Given the description of an element on the screen output the (x, y) to click on. 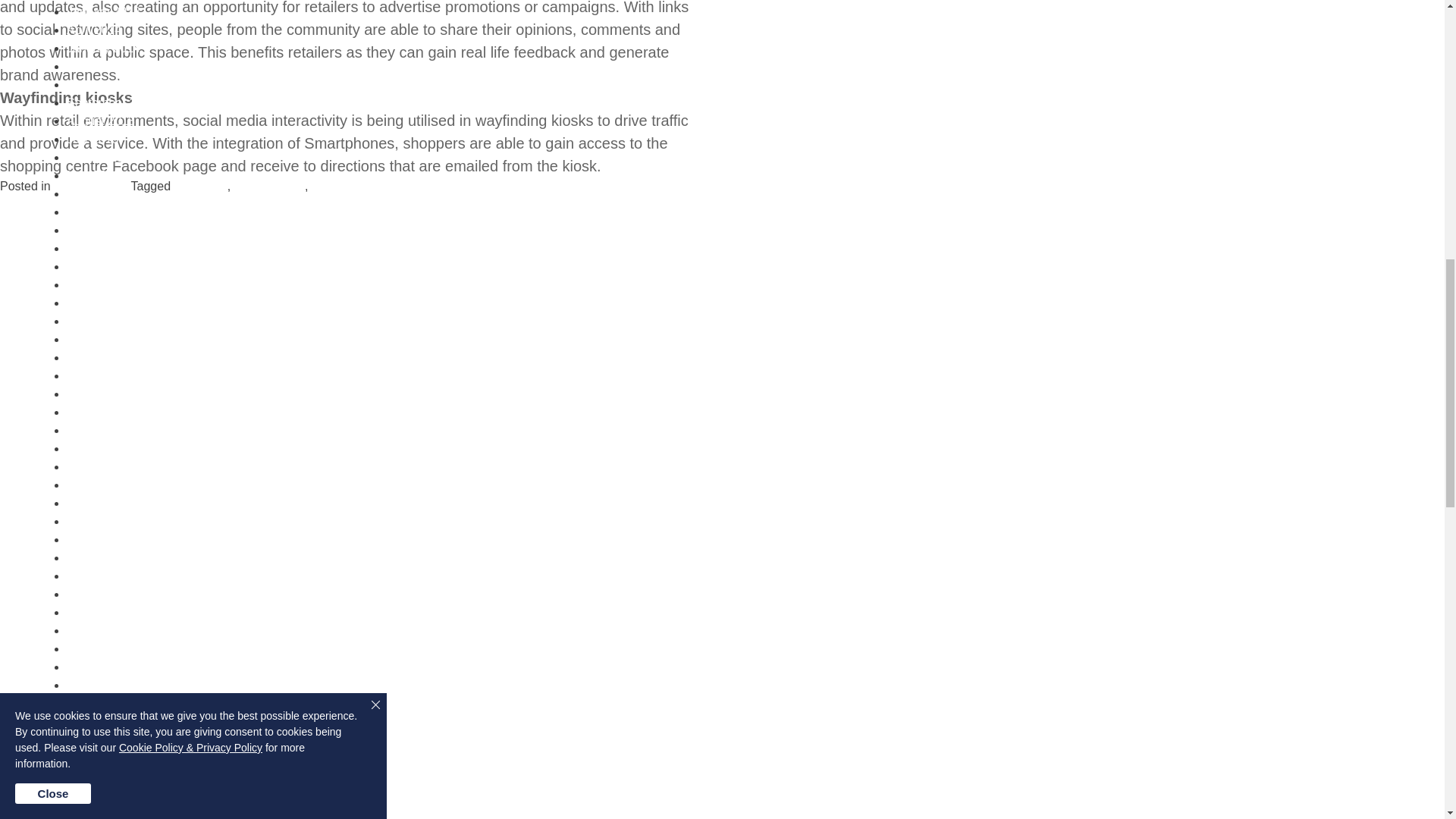
Industry News (92, 185)
November 2013 (109, 65)
Marketing (200, 185)
April 2014 (93, 29)
January 2018 (102, 11)
Social Media (346, 185)
January 2014 (102, 47)
Photo Kiosks (269, 185)
